Given the description of an element on the screen output the (x, y) to click on. 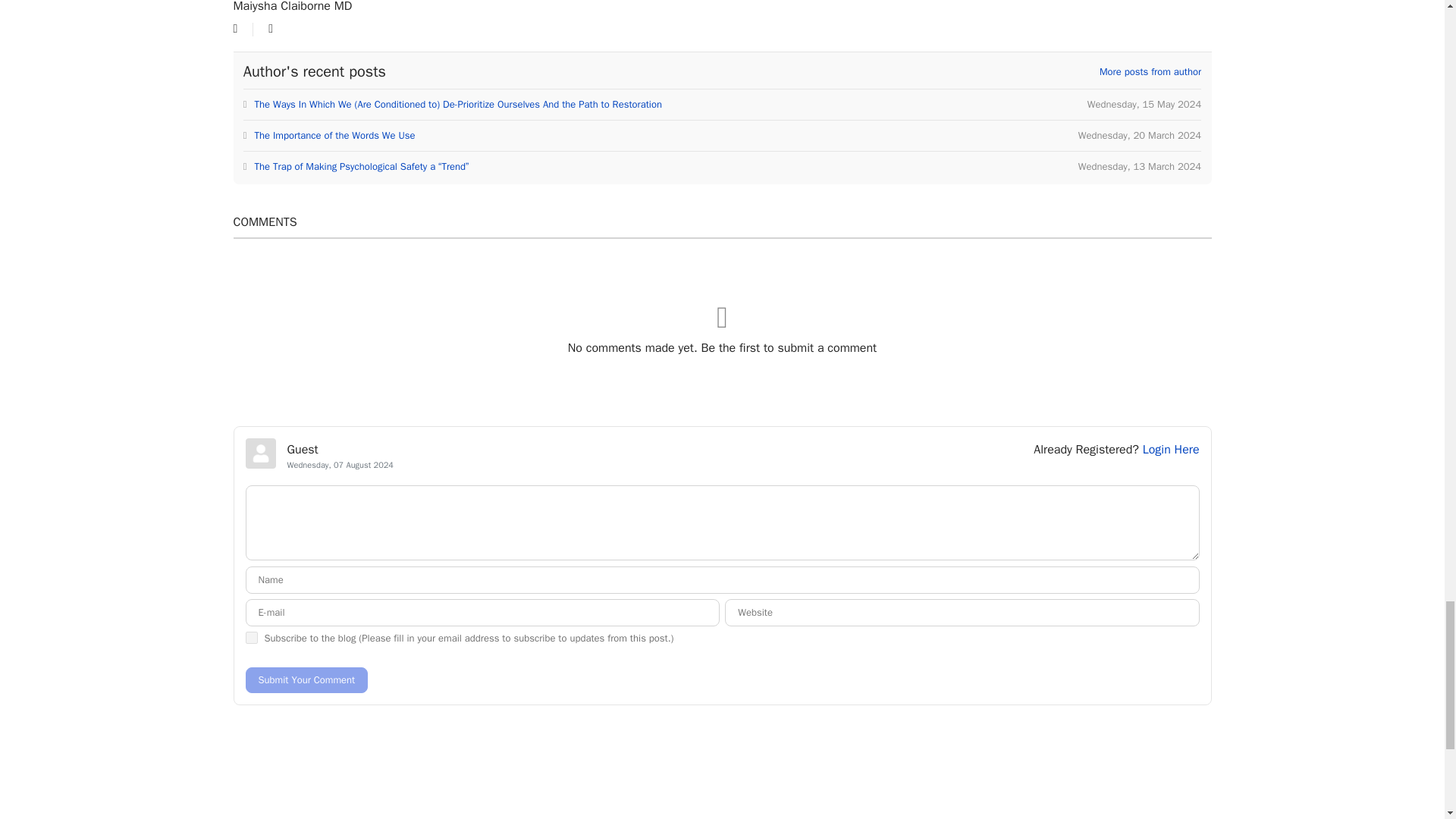
Maiysha Claiborne MD (292, 6)
